Given the description of an element on the screen output the (x, y) to click on. 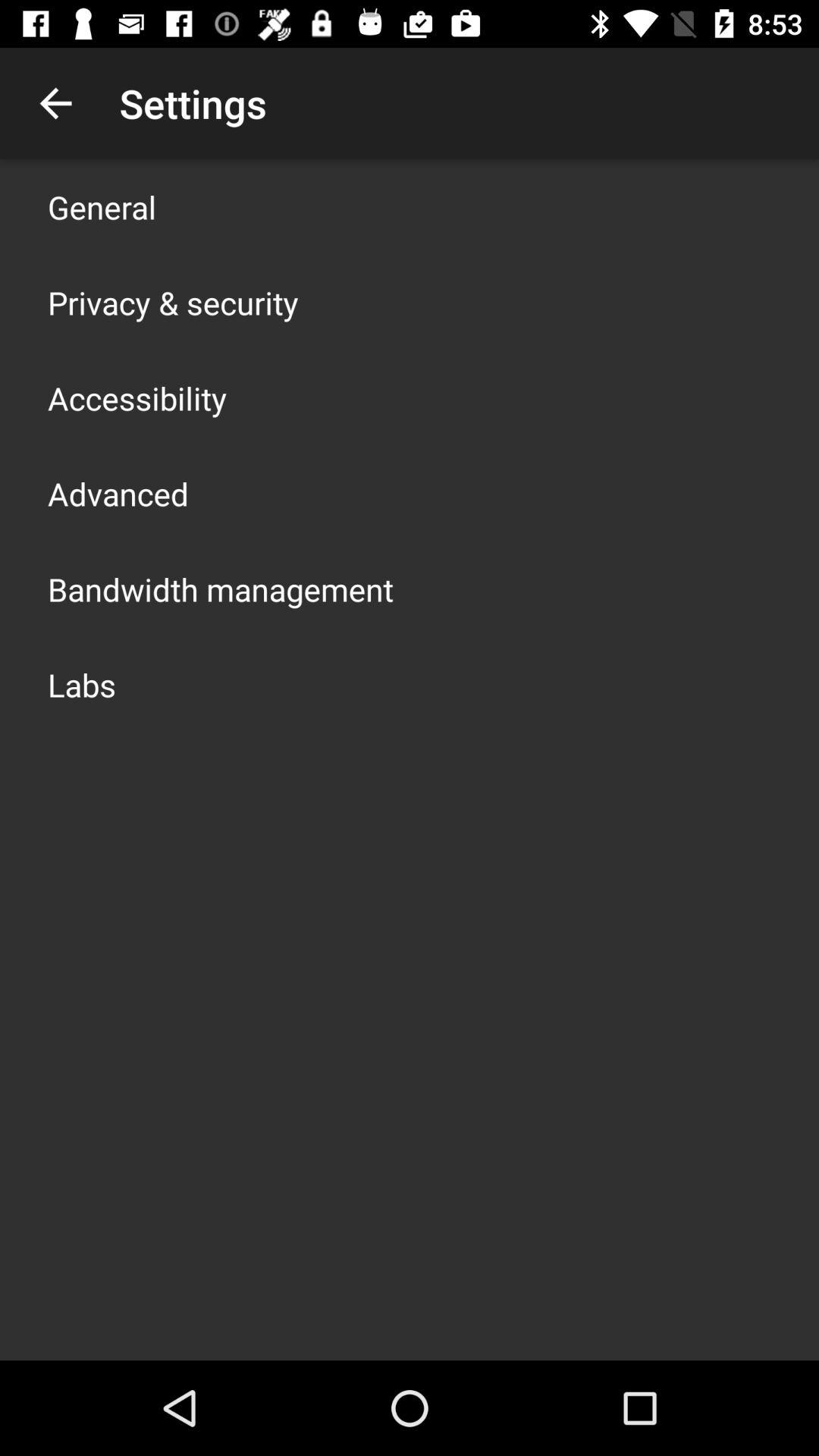
jump to the bandwidth management (220, 588)
